Given the description of an element on the screen output the (x, y) to click on. 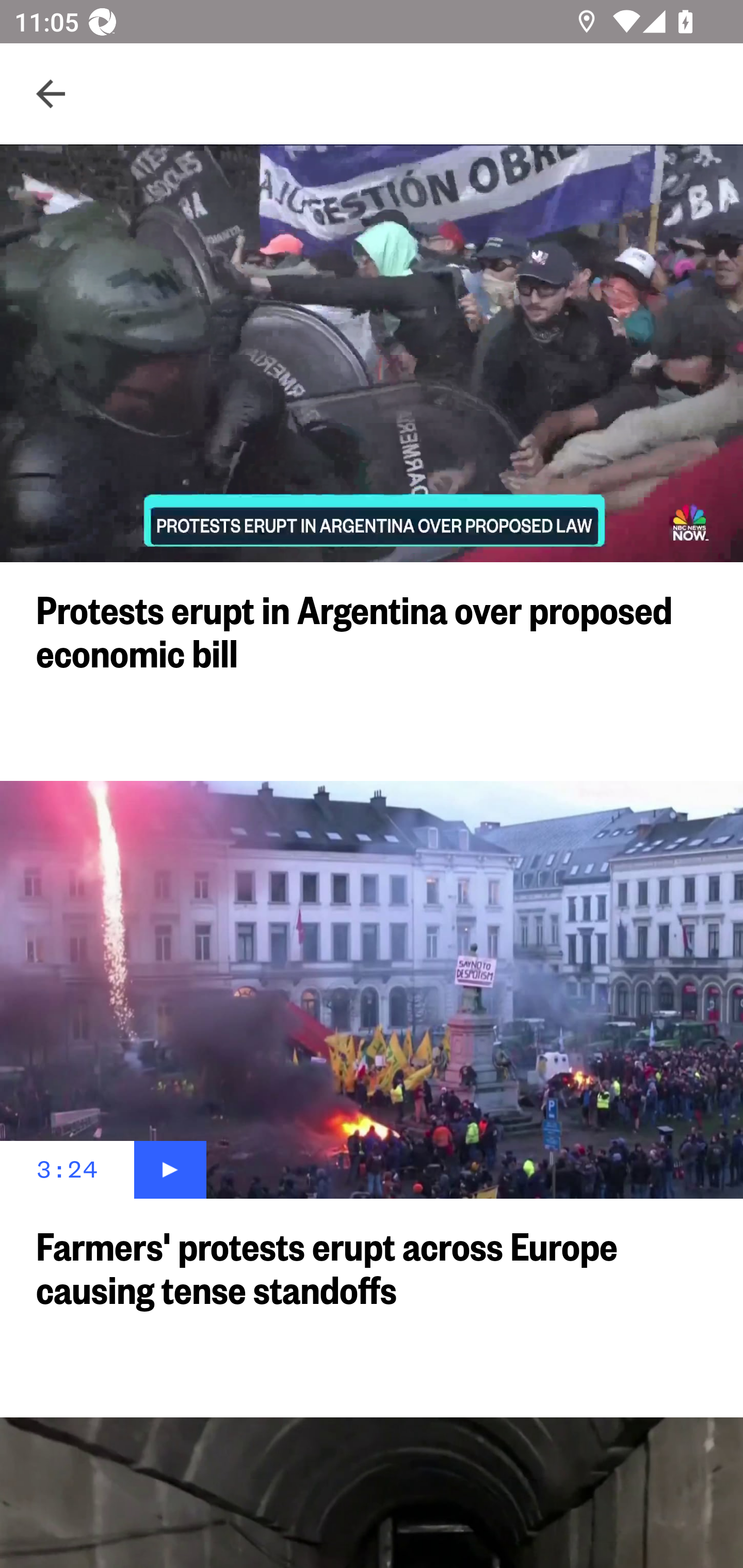
Navigate up (50, 93)
